Given the description of an element on the screen output the (x, y) to click on. 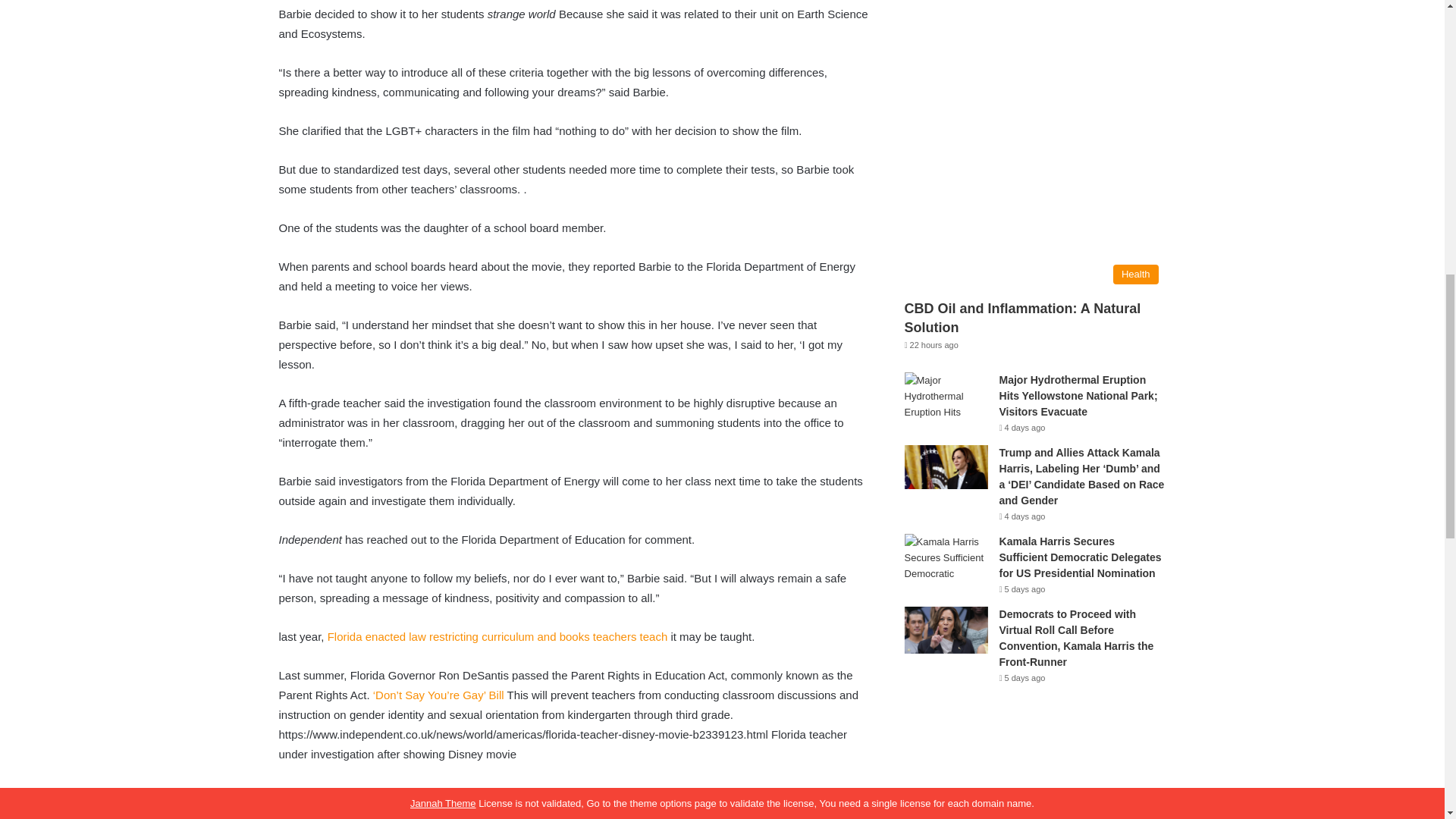
Florida law takes aim at teachers union that defied DeSantis (497, 635)
